Given the description of an element on the screen output the (x, y) to click on. 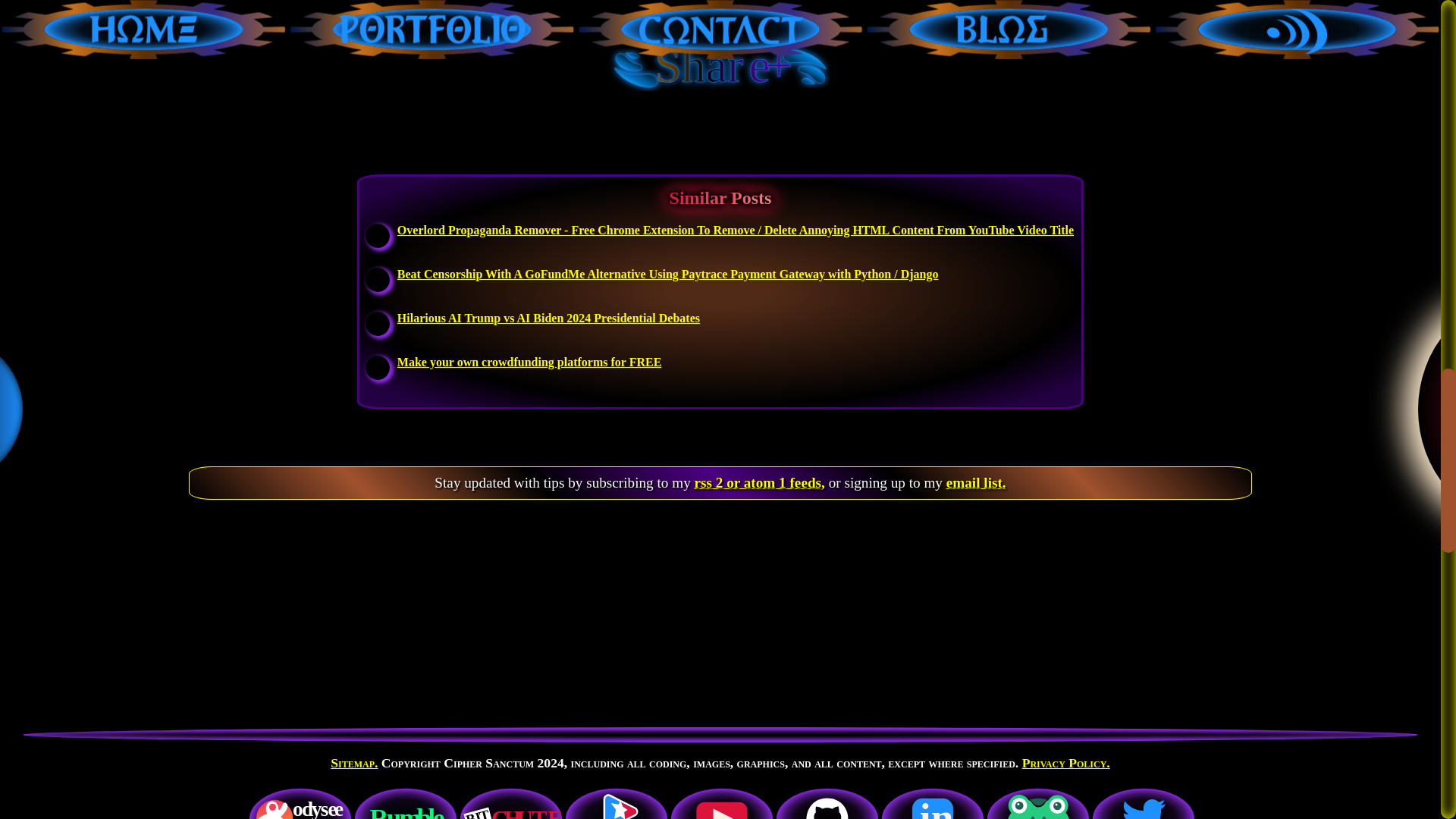
Rumble channel Rumble channel (406, 801)
Gab Account Gab Account (1038, 801)
Twitter Account Twitter Account (1142, 801)
Make your own crowdfunding platforms for FREE (529, 360)
YouTube channel YouTube channel (721, 801)
Bitchute channel Bitchute channel (511, 801)
rss 2 or atom 1 feeds, (759, 482)
Hilarious AI Trump vs AI Biden 2024 Presidential Debates (548, 317)
Sitemap. (353, 762)
Github Github (827, 801)
